Given the description of an element on the screen output the (x, y) to click on. 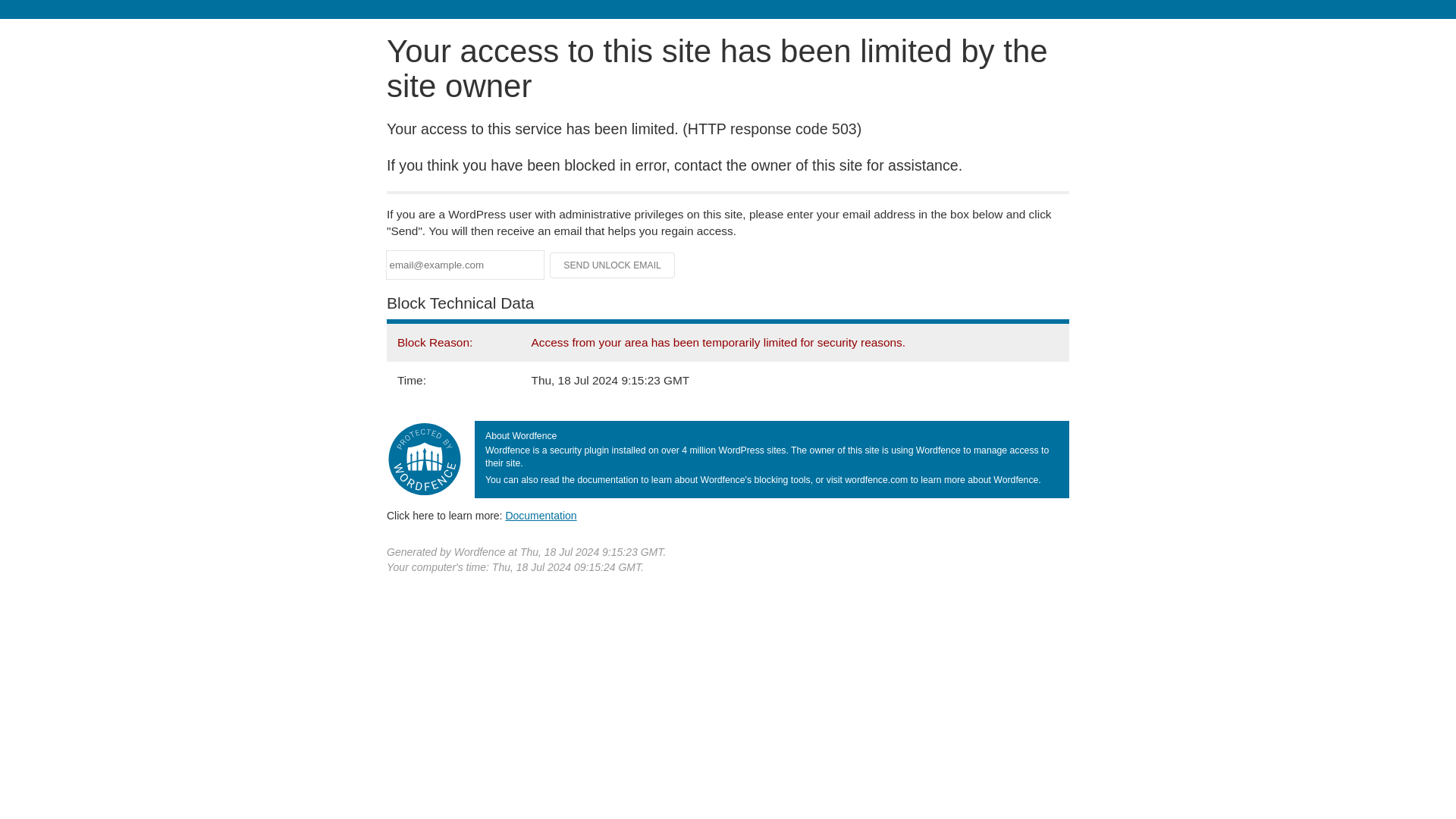
Send Unlock Email (612, 265)
Send Unlock Email (612, 265)
Documentation (540, 515)
